Given the description of an element on the screen output the (x, y) to click on. 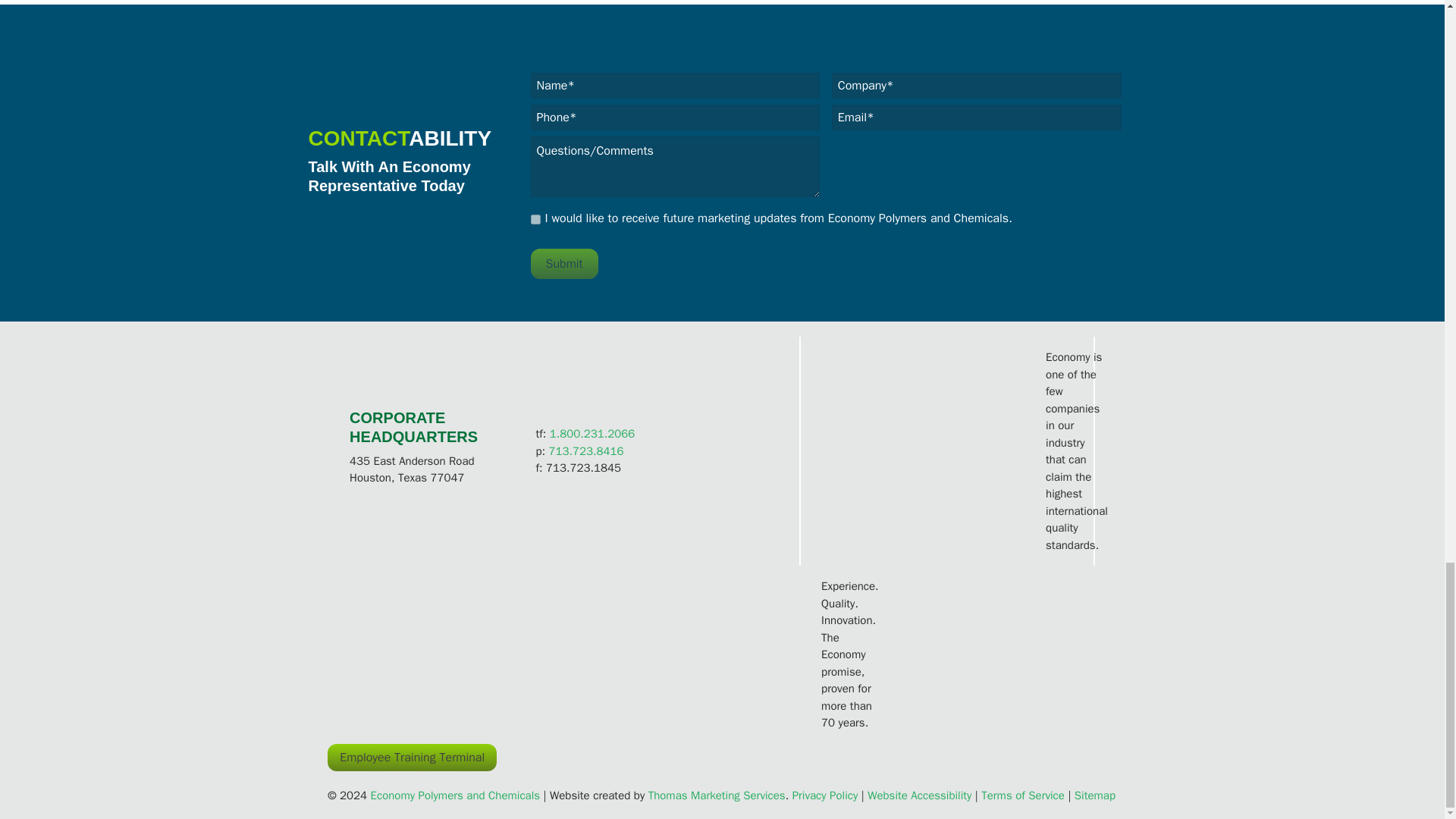
Submit (564, 263)
Submit (564, 263)
EPC-70 (721, 653)
ISO 9001:2015 (924, 449)
